Given the description of an element on the screen output the (x, y) to click on. 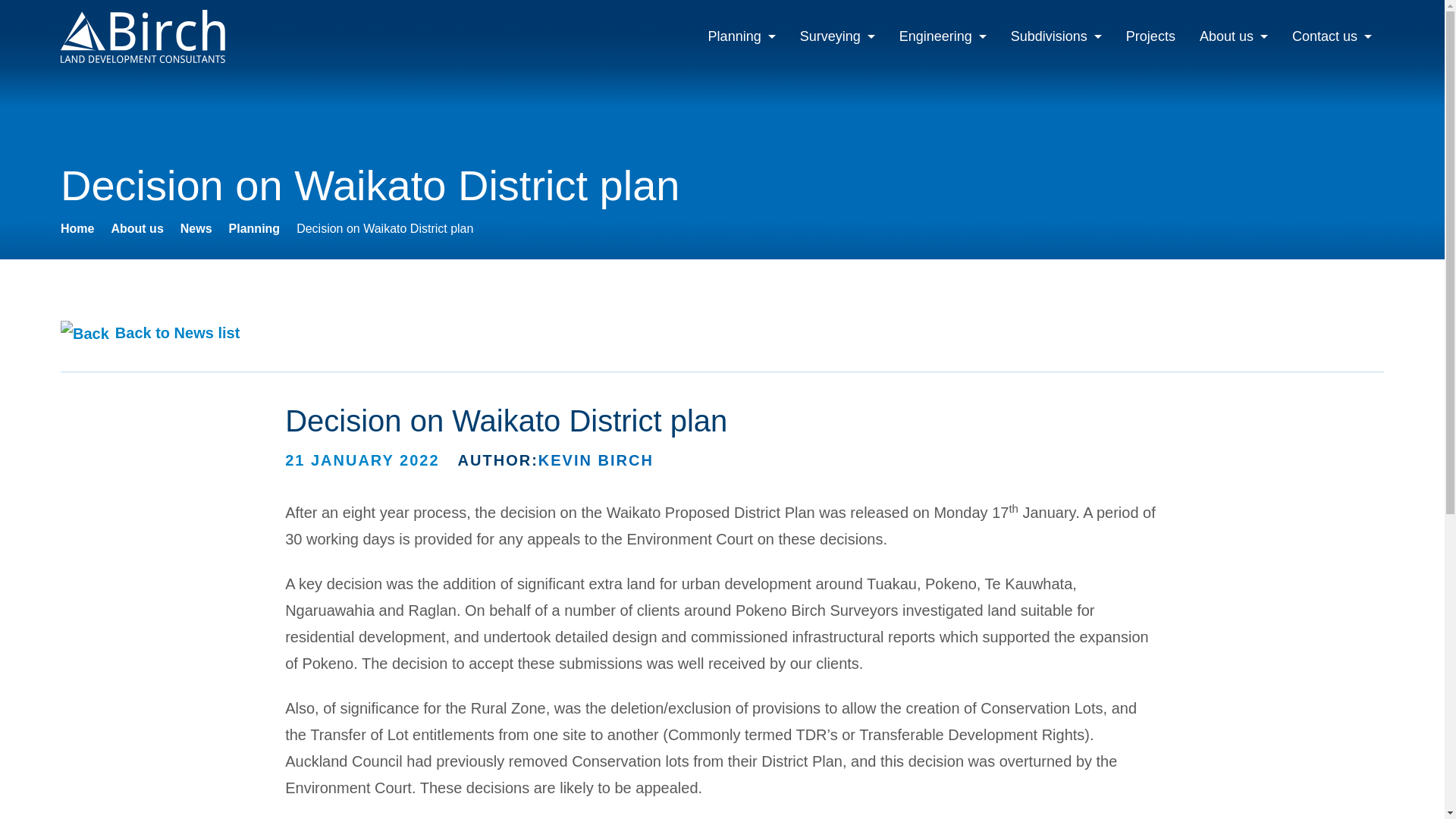
About us (136, 228)
Contact us (1331, 35)
Subdivisions (1055, 35)
Engineering (942, 35)
Planning (741, 35)
Back to News list (150, 332)
Projects (1150, 35)
Surveying (836, 35)
Home (77, 228)
Planning (254, 228)
